Given the description of an element on the screen output the (x, y) to click on. 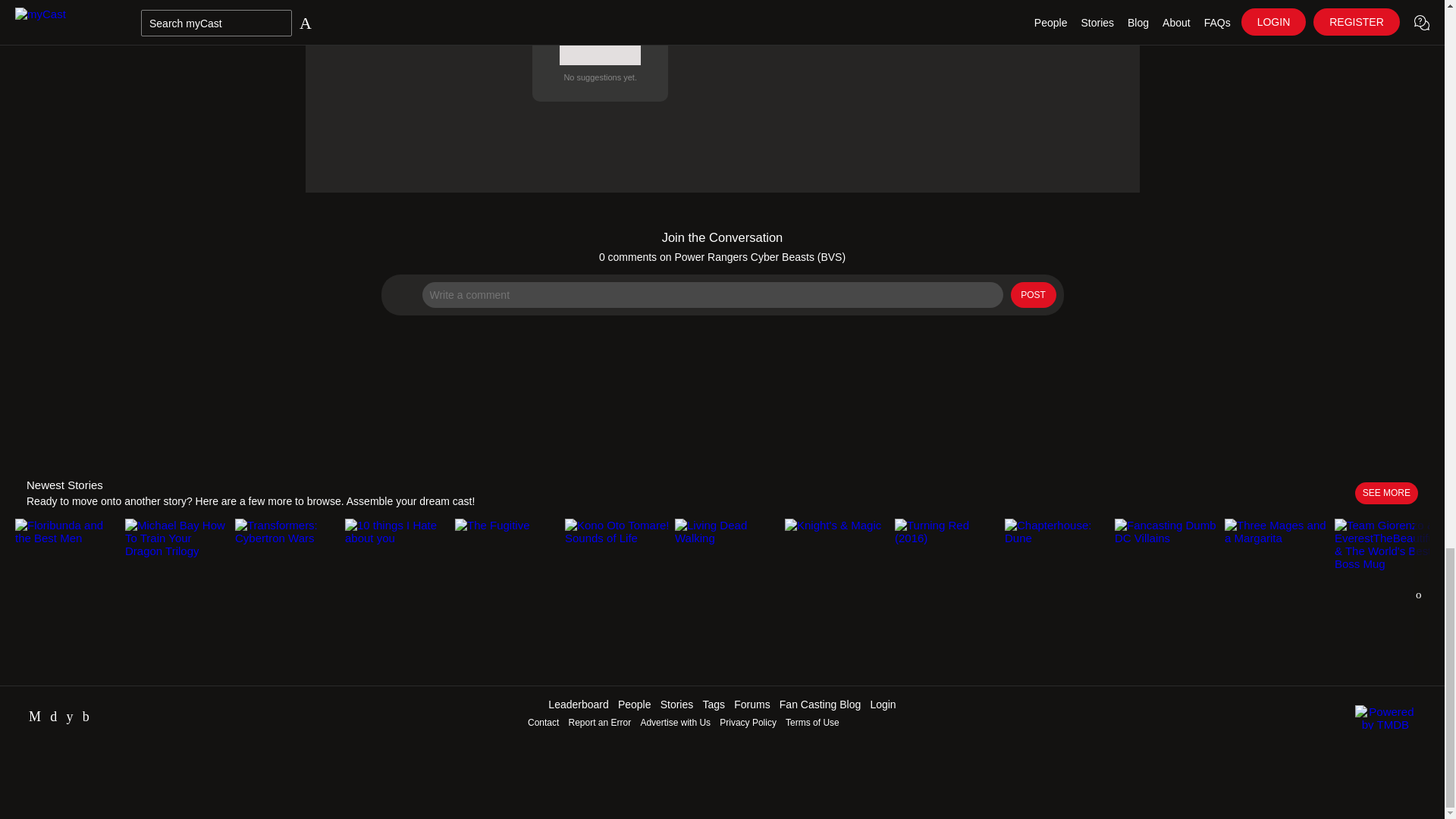
Choreographer (600, 50)
